Given the description of an element on the screen output the (x, y) to click on. 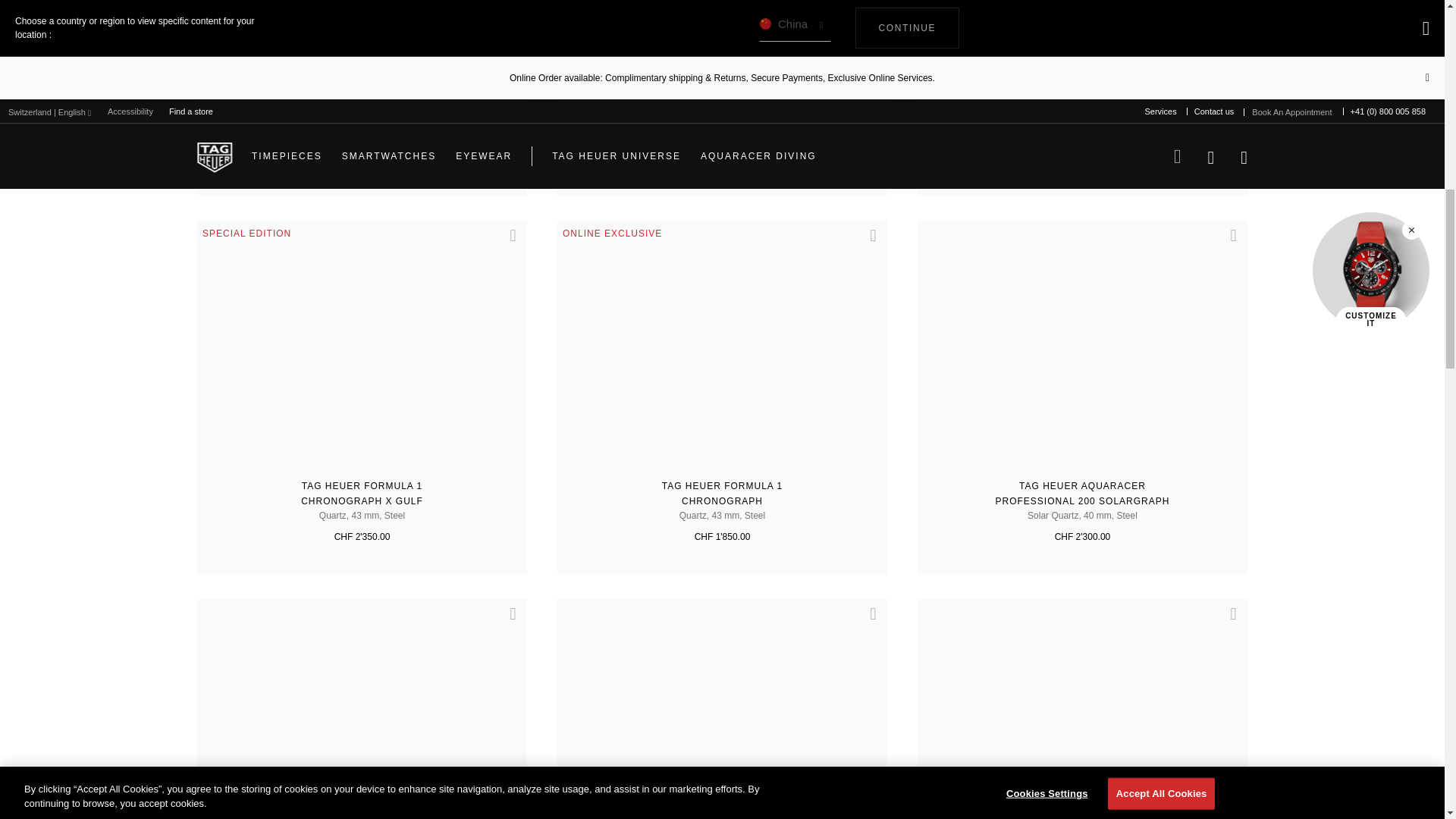
Add to my wishlist (506, 243)
Add to my wishlist (1226, 243)
Add to my wishlist (866, 621)
Add to my wishlist (866, 243)
Add to my wishlist (506, 621)
